Given the description of an element on the screen output the (x, y) to click on. 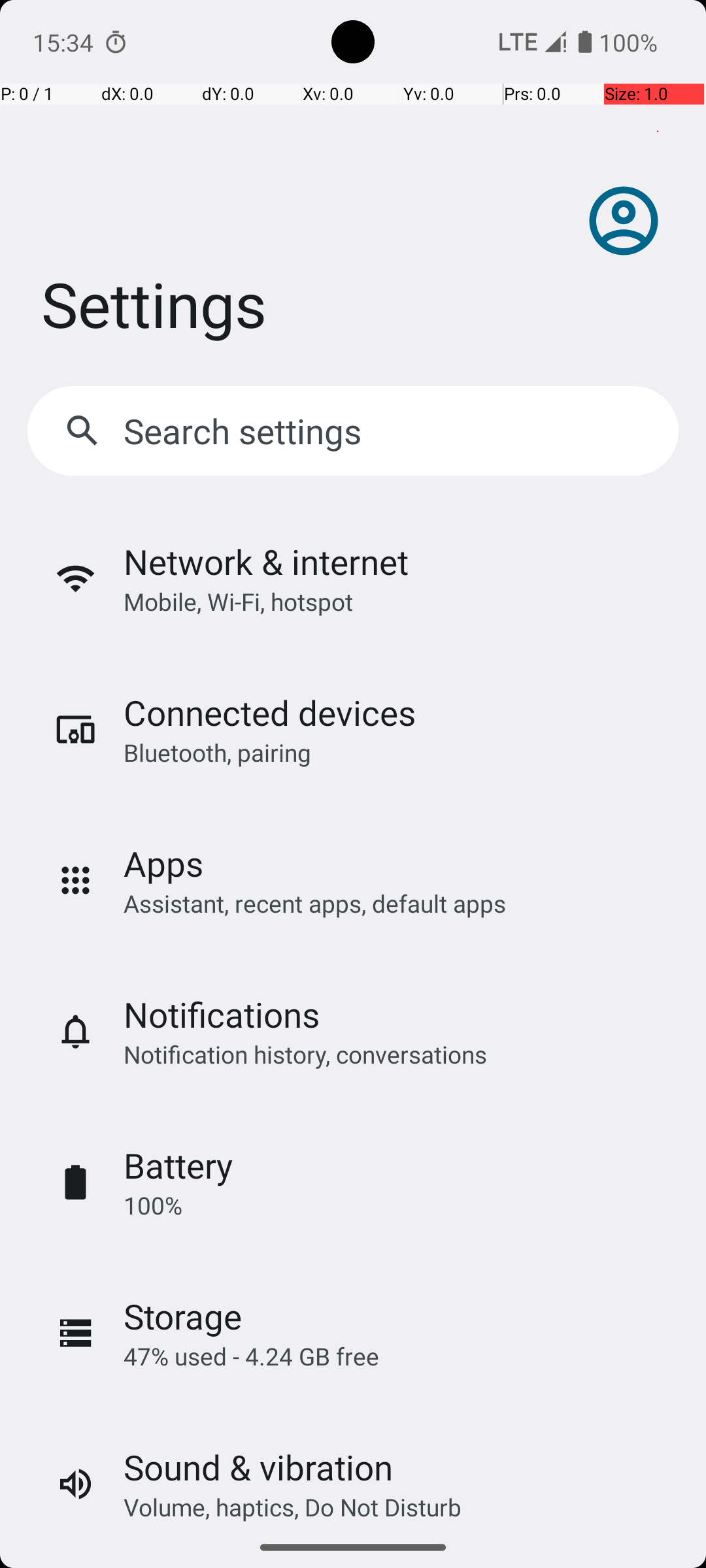
47% used - 4.24 GB free Element type: android.widget.TextView (251, 1355)
